Given the description of an element on the screen output the (x, y) to click on. 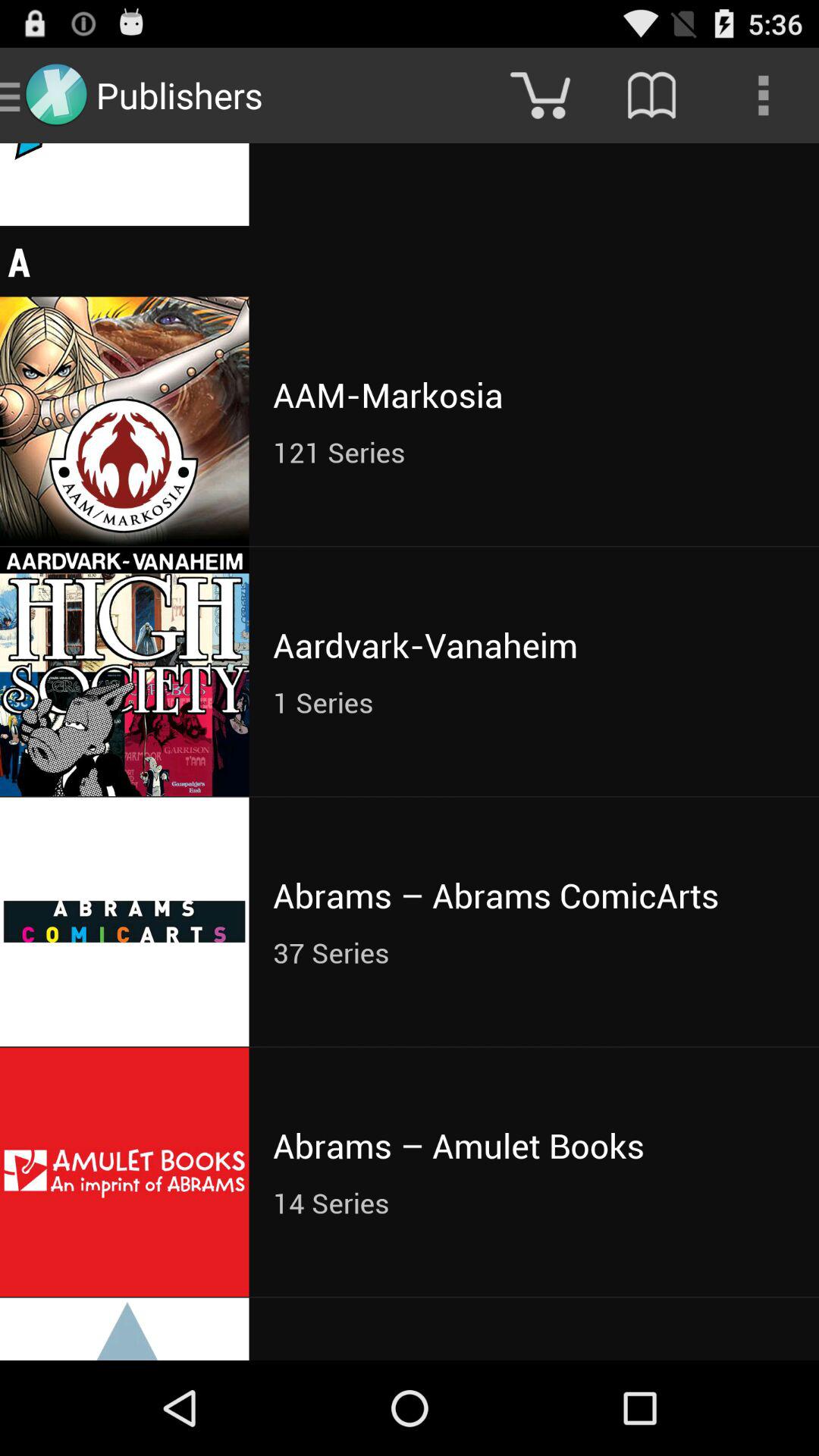
select the icon above 16 series item (651, 95)
